Given the description of an element on the screen output the (x, y) to click on. 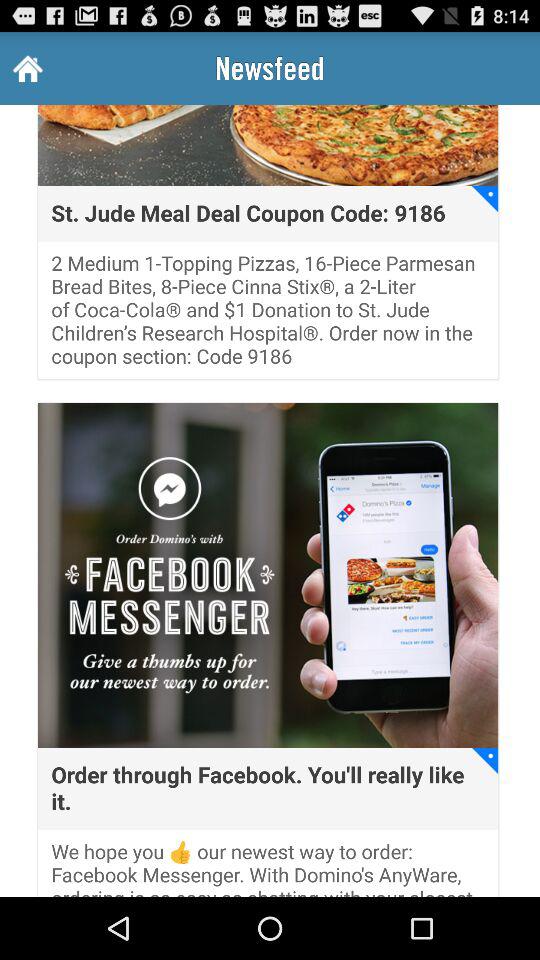
flip to the 2 medium 1 item (268, 315)
